Given the description of an element on the screen output the (x, y) to click on. 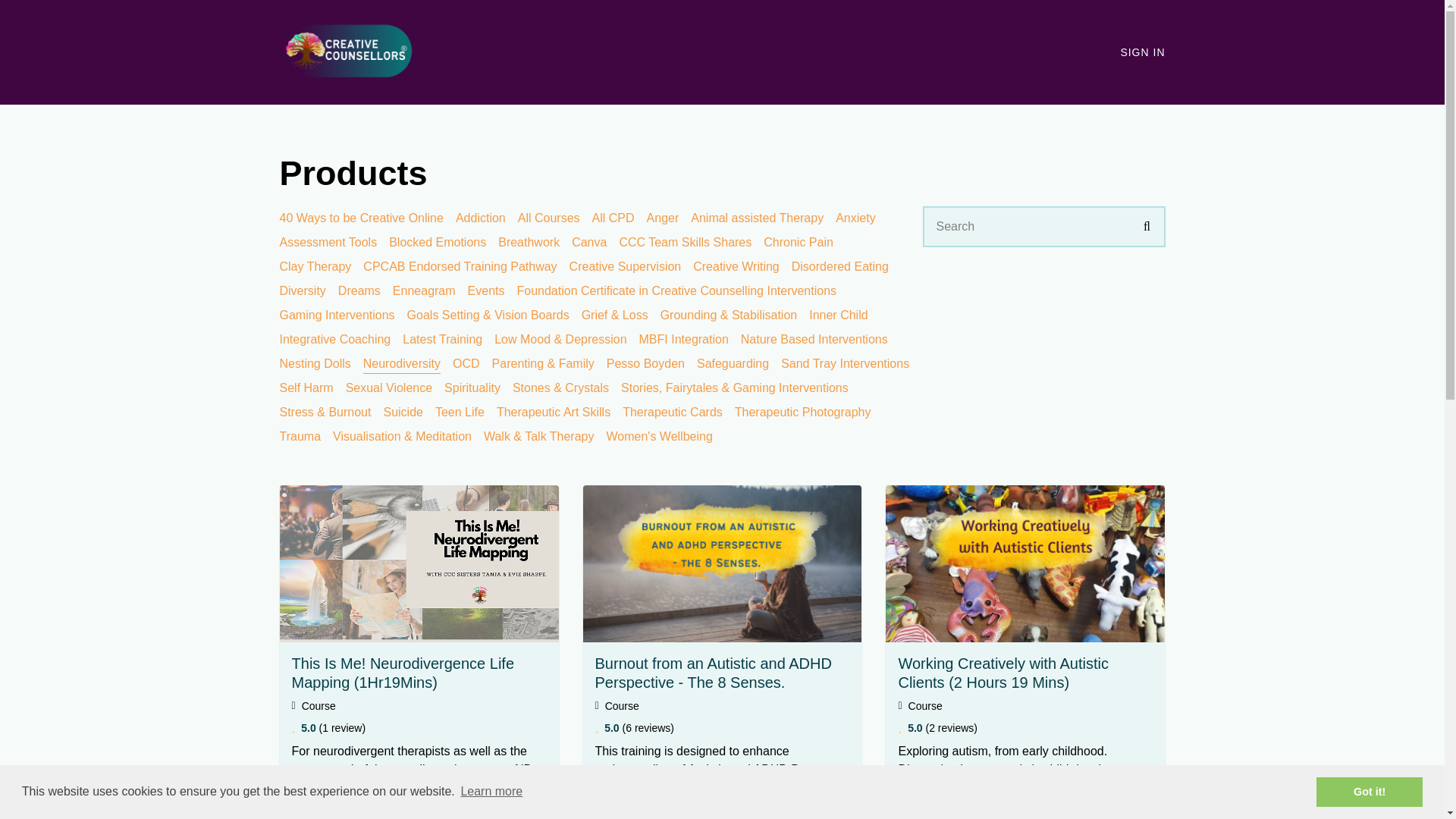
Dreams (358, 290)
CPCAB Endorsed Training Pathway (459, 266)
MBFI Integration (684, 338)
Got it! (1369, 794)
Creative Counsellors Online Members Hub (345, 50)
Foundation Certificate in Creative Counselling Interventions (676, 290)
Enneagram (424, 290)
Animal assisted Therapy (757, 217)
Disordered Eating (840, 266)
Addiction (480, 217)
All Courses (548, 217)
Learn more (489, 796)
Blocked Emotions (437, 241)
Chronic Pain (797, 241)
Events (486, 290)
